Given the description of an element on the screen output the (x, y) to click on. 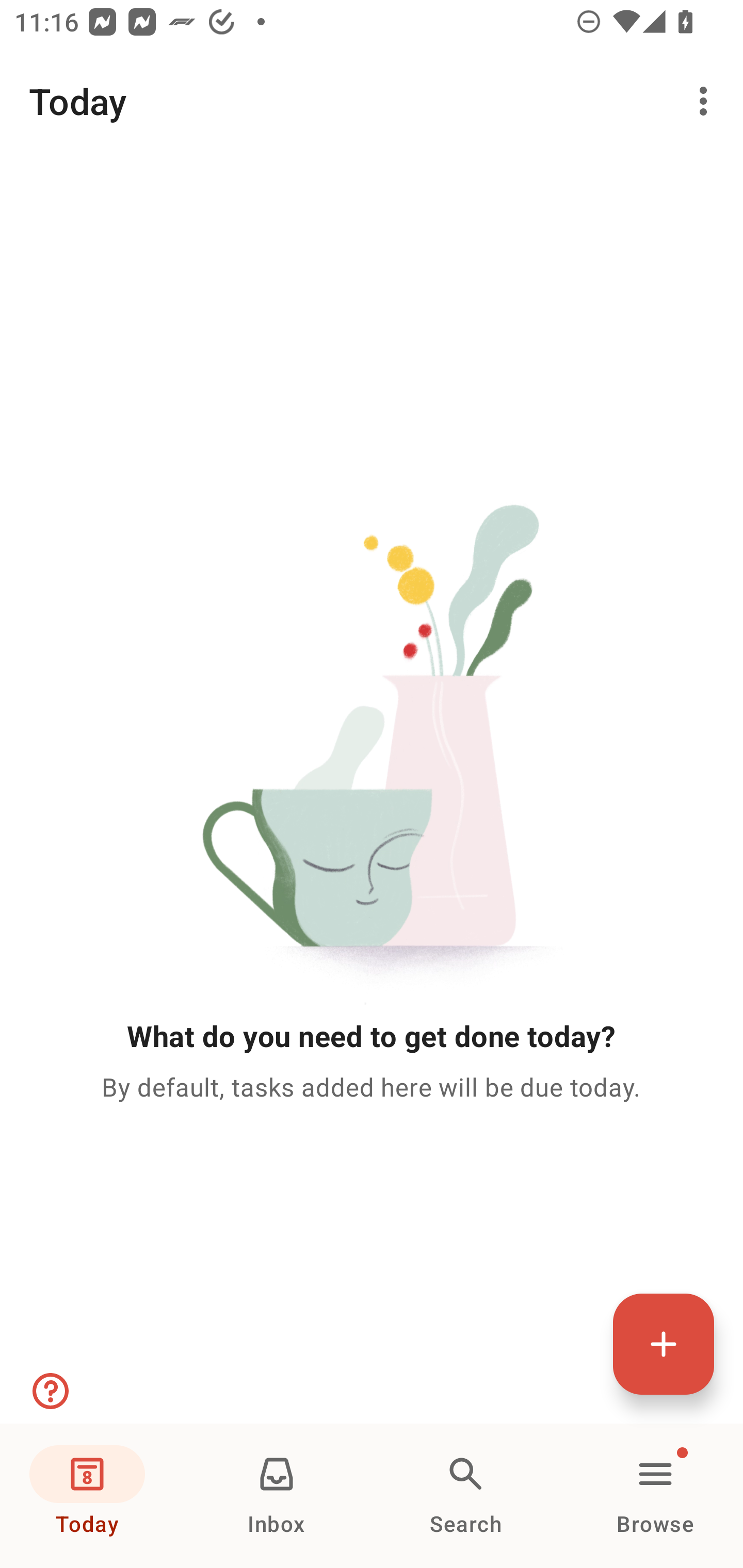
Today More options (371, 100)
More options (706, 101)
Quick add (663, 1343)
How to plan your day (48, 1390)
Inbox (276, 1495)
Search (465, 1495)
Browse (655, 1495)
